Given the description of an element on the screen output the (x, y) to click on. 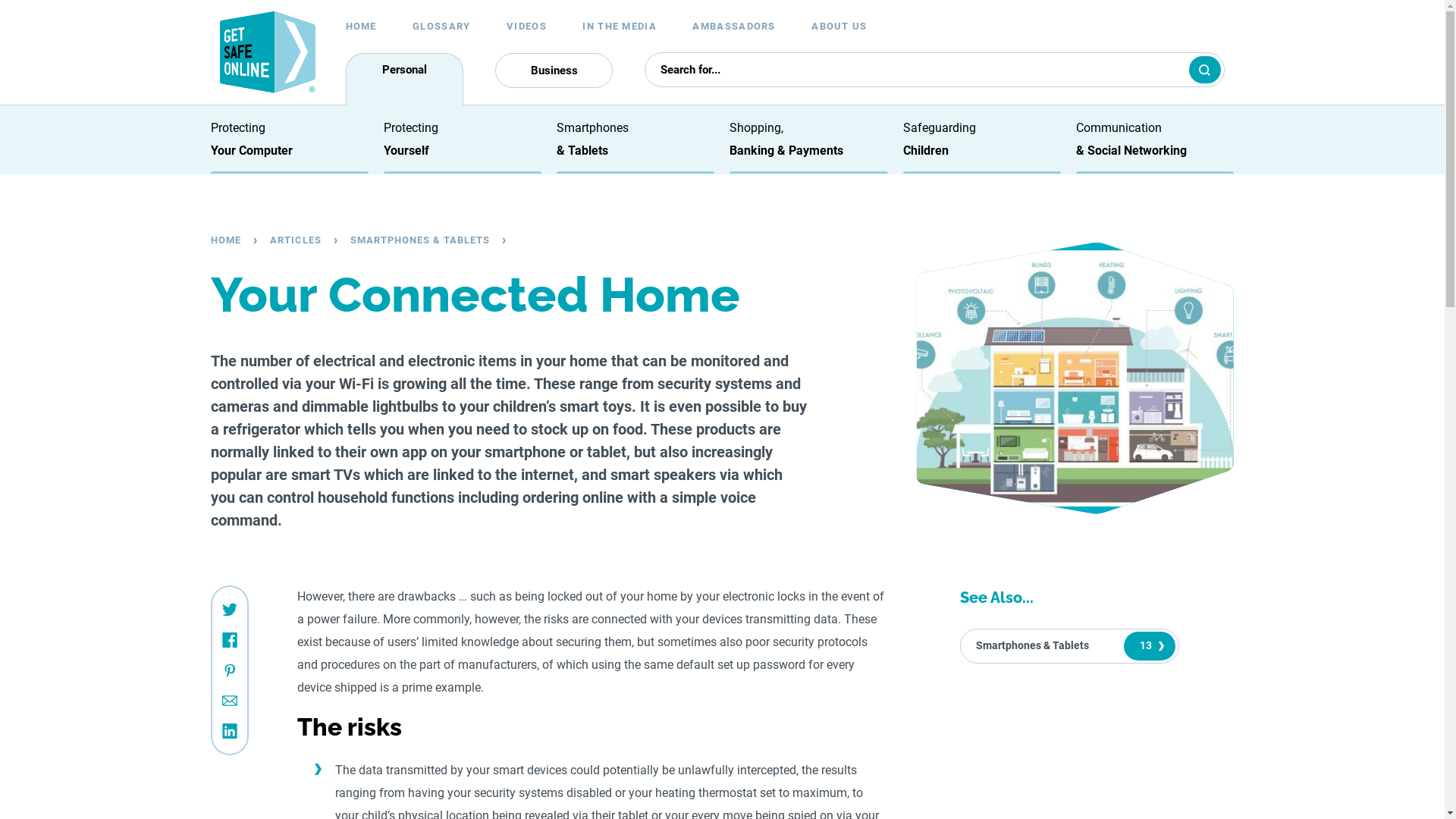
SMARTPHONES & TABLETS Element type: text (432, 239)
AMBASSADORS Element type: text (733, 25)
Personal Element type: text (404, 79)
Business Element type: text (553, 70)
Smartphones
& Tablets Element type: text (592, 139)
Safeguarding
Children Element type: text (939, 139)
VIDEOS Element type: text (526, 25)
Communication
& Social Networking Element type: text (1131, 139)
13 Element type: text (1149, 645)
Protecting
Your Computer Element type: text (251, 139)
IN THE MEDIA Element type: text (619, 25)
GLOSSARY Element type: text (441, 25)
HOME Element type: text (238, 239)
ABOUT US Element type: text (838, 25)
Search Element type: text (1214, 792)
Search Element type: text (1204, 69)
Smartphones & Tablets Element type: text (1031, 645)
ARTICLES Element type: text (308, 239)
HOME Element type: text (360, 25)
Protecting
Yourself Element type: text (410, 139)
Shopping,
Banking & Payments Element type: text (786, 139)
